Given the description of an element on the screen output the (x, y) to click on. 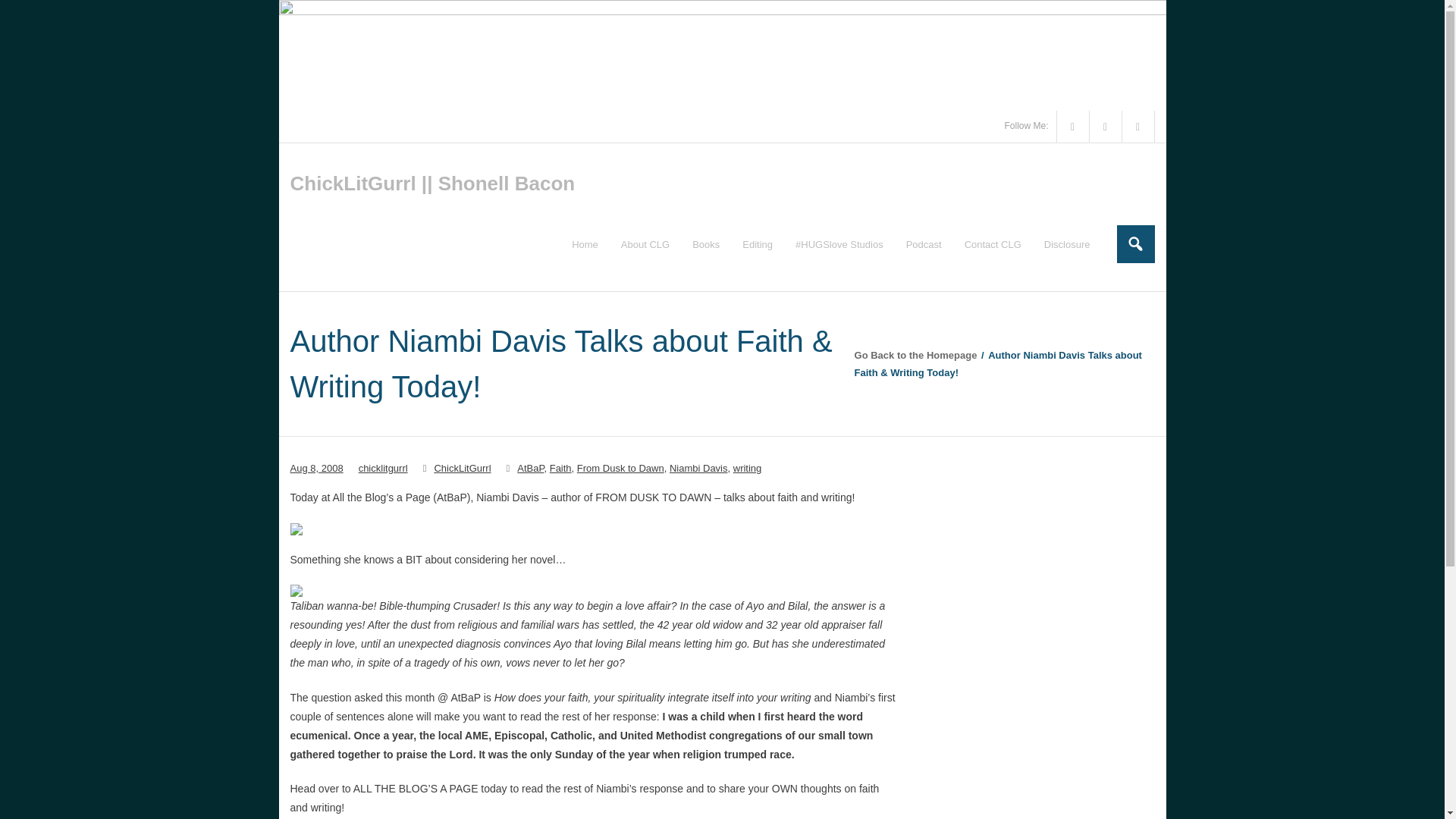
Aug 8, 2008 (315, 468)
From Dusk to Dawn (619, 468)
ChickLitGurrl (461, 468)
Faith (561, 468)
chicklitgurrl (382, 468)
View all posts by chicklitgurrl (382, 468)
Niambi Davis (698, 468)
writing (747, 468)
AtBaP (529, 468)
Search (27, 14)
